Given the description of an element on the screen output the (x, y) to click on. 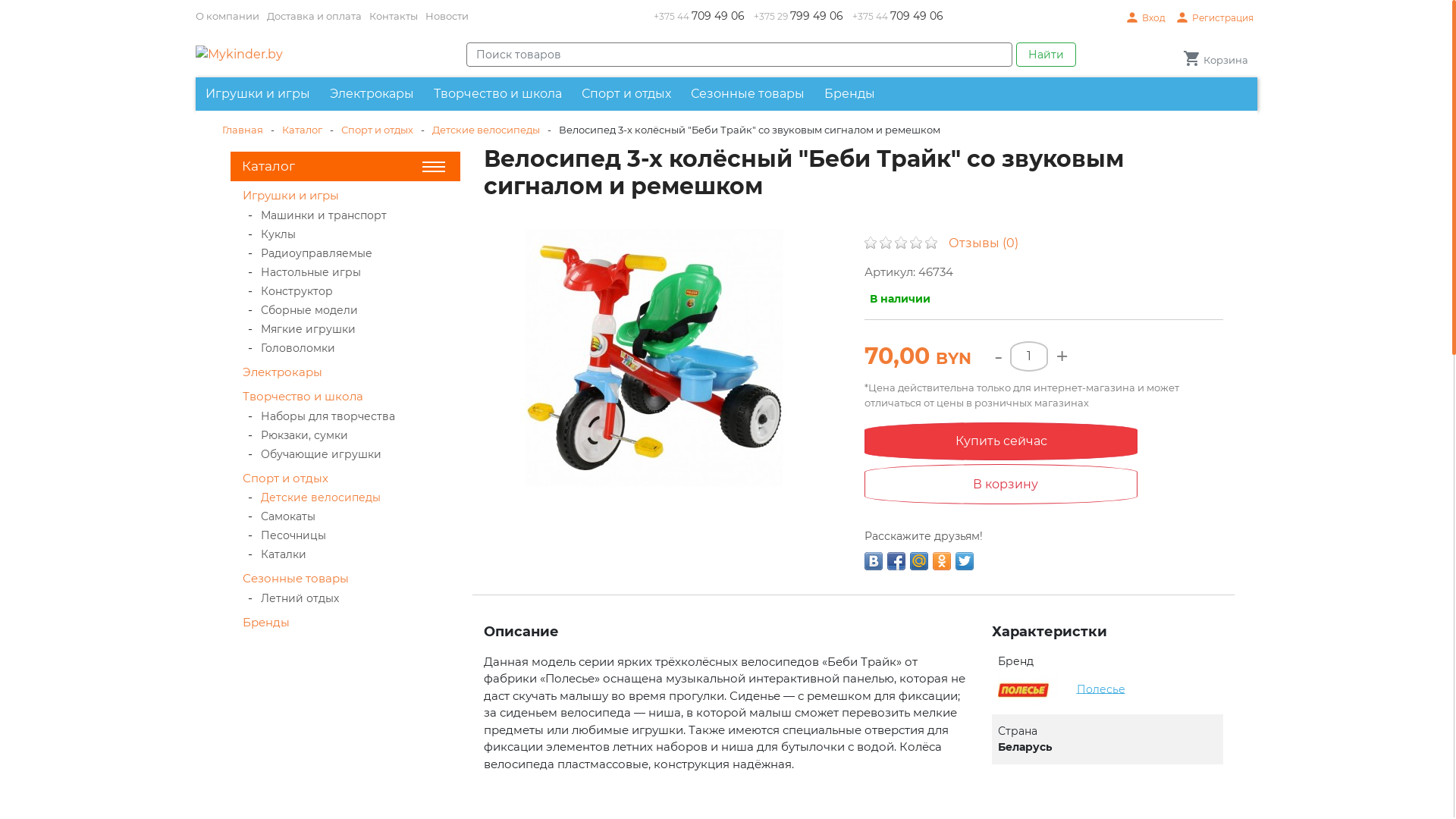
+375 29 799 49 06 Element type: text (798, 15)
+375 44 709 49 06 Element type: text (897, 15)
0 Element type: hover (900, 242)
+375 44 709 49 06 Element type: text (698, 15)
